Given the description of an element on the screen output the (x, y) to click on. 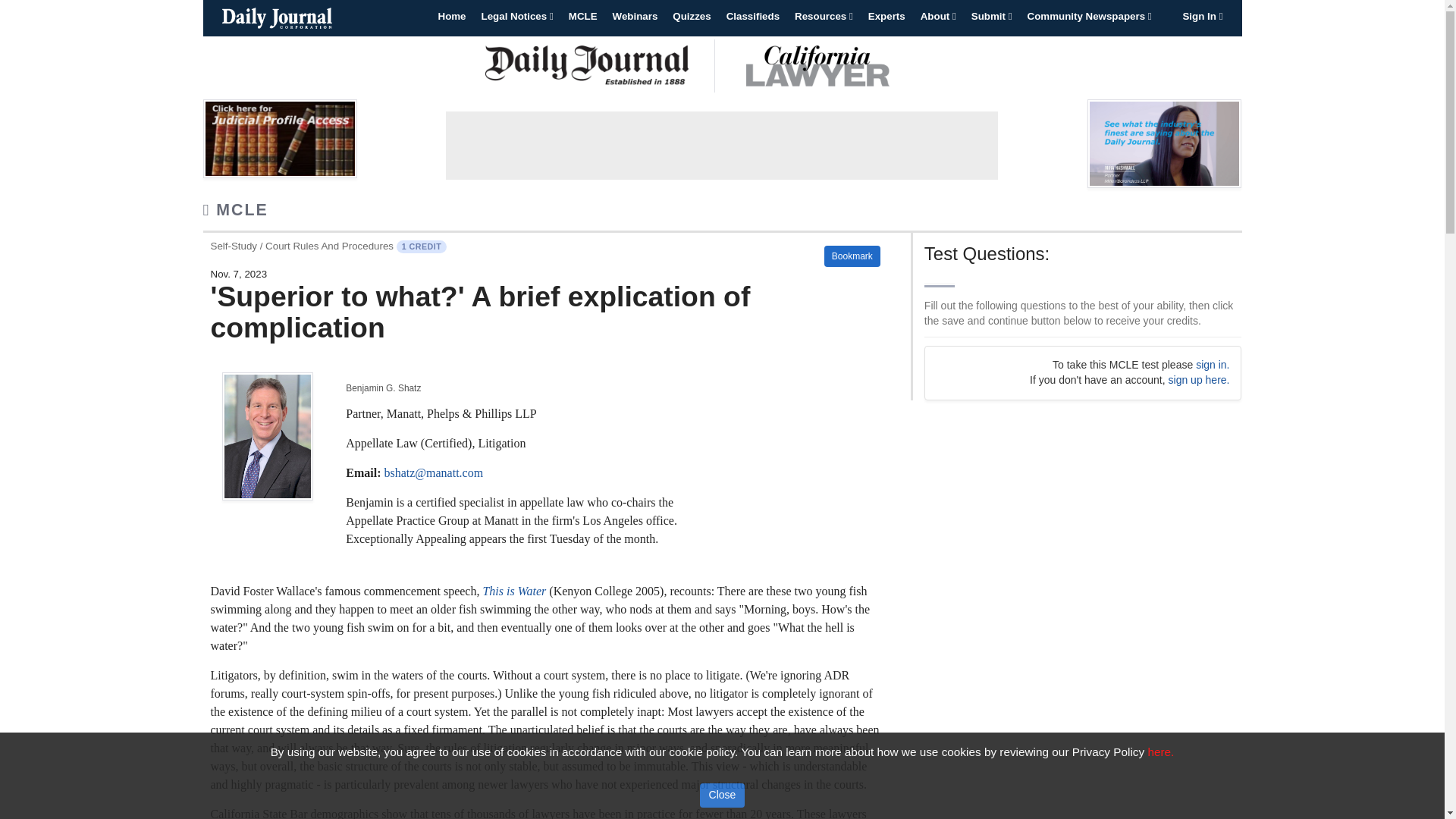
Legal Notices (517, 16)
3rd party ad content (721, 145)
Home (451, 16)
